Given the description of an element on the screen output the (x, y) to click on. 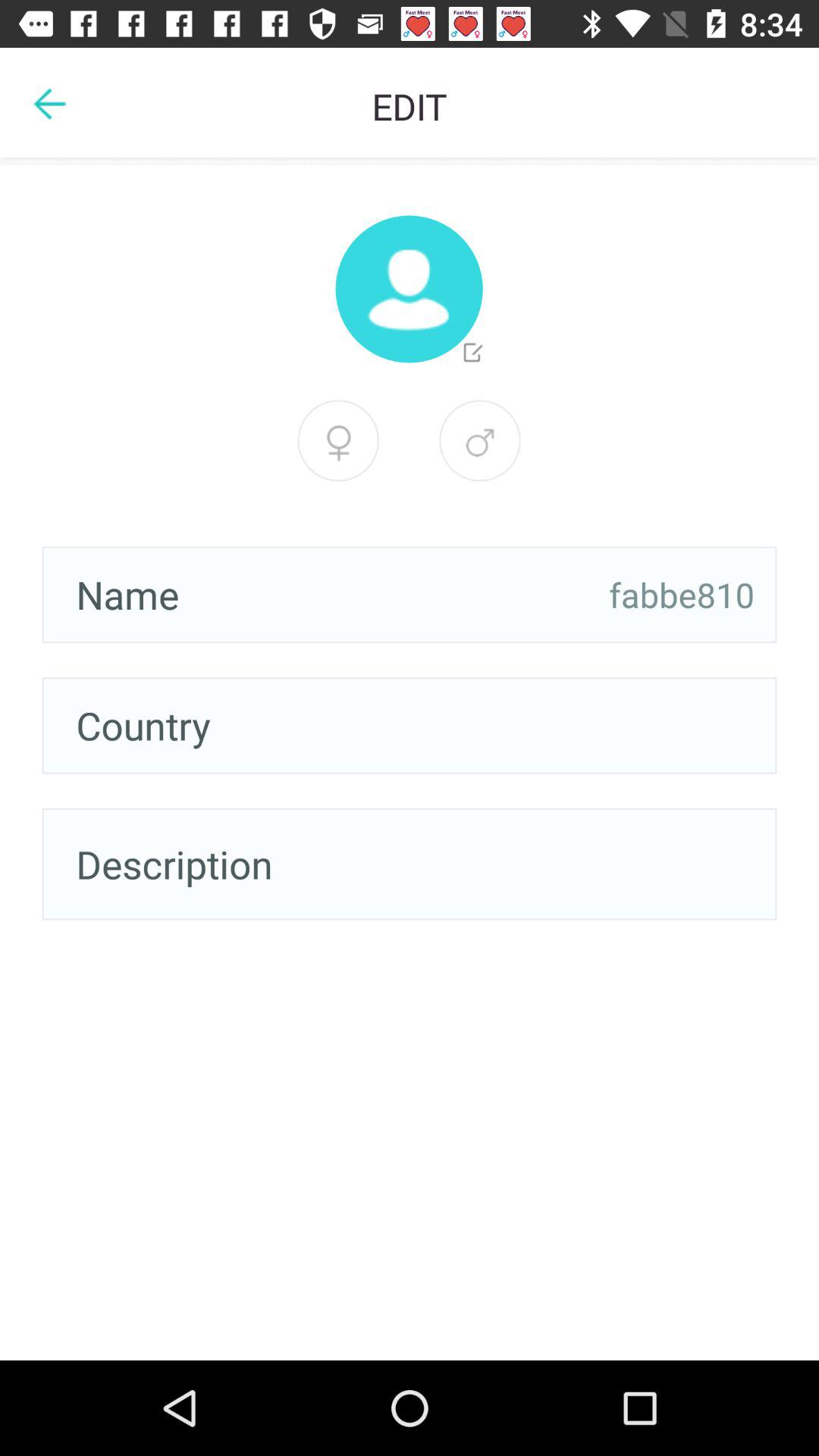
select fabbe810 item (681, 594)
